Given the description of an element on the screen output the (x, y) to click on. 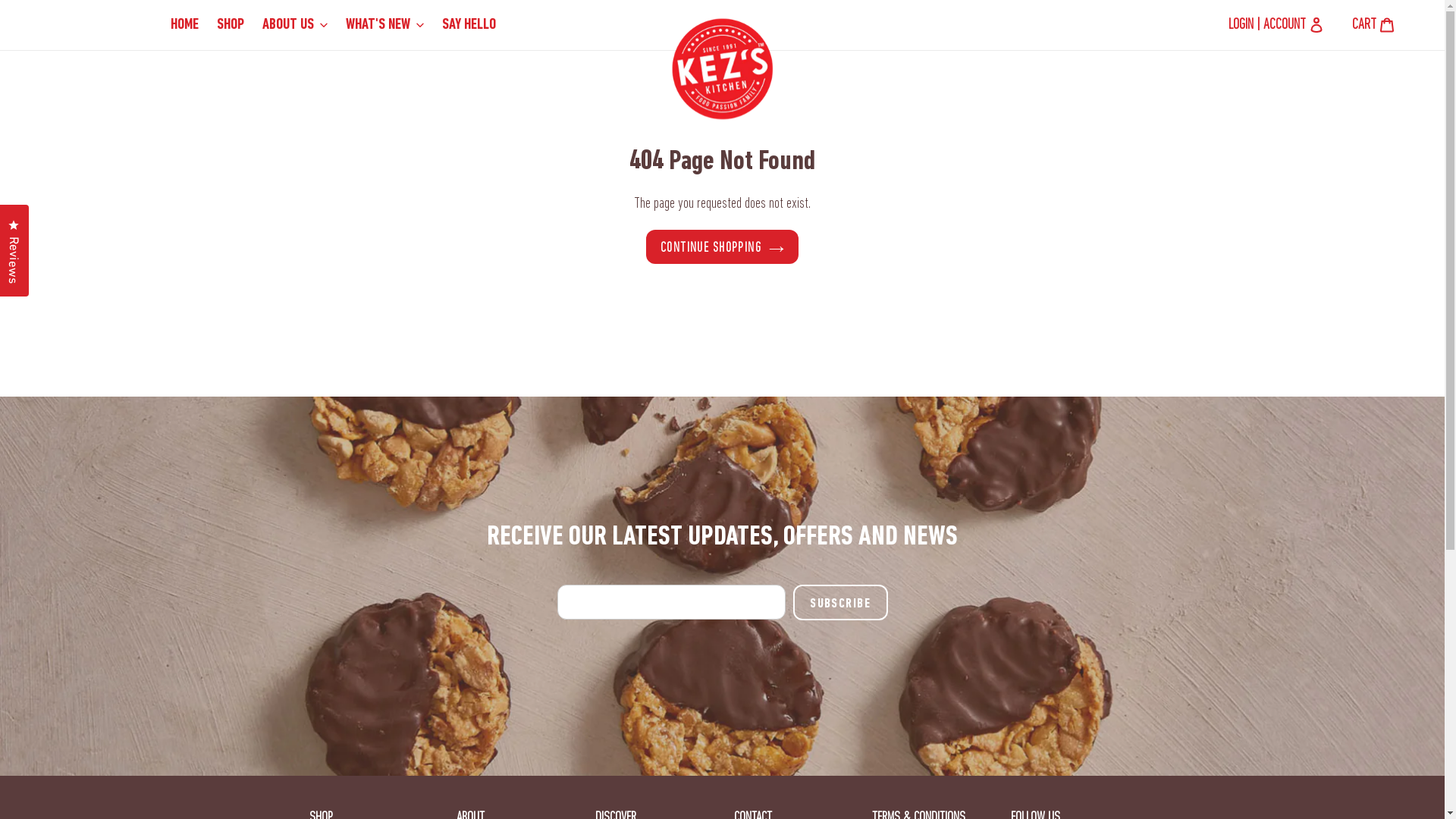
SUBSCRIBE Element type: text (840, 602)
ABOUT US Element type: text (294, 24)
HOME Element type: text (184, 24)
SAY HELLO Element type: text (468, 24)
CONTINUE SHOPPING Element type: text (722, 246)
LOGIN | ACCOUNT Element type: text (1266, 24)
CART Element type: text (1372, 24)
SHOP Element type: text (230, 24)
WHAT'S NEW Element type: text (384, 24)
